Given the description of an element on the screen output the (x, y) to click on. 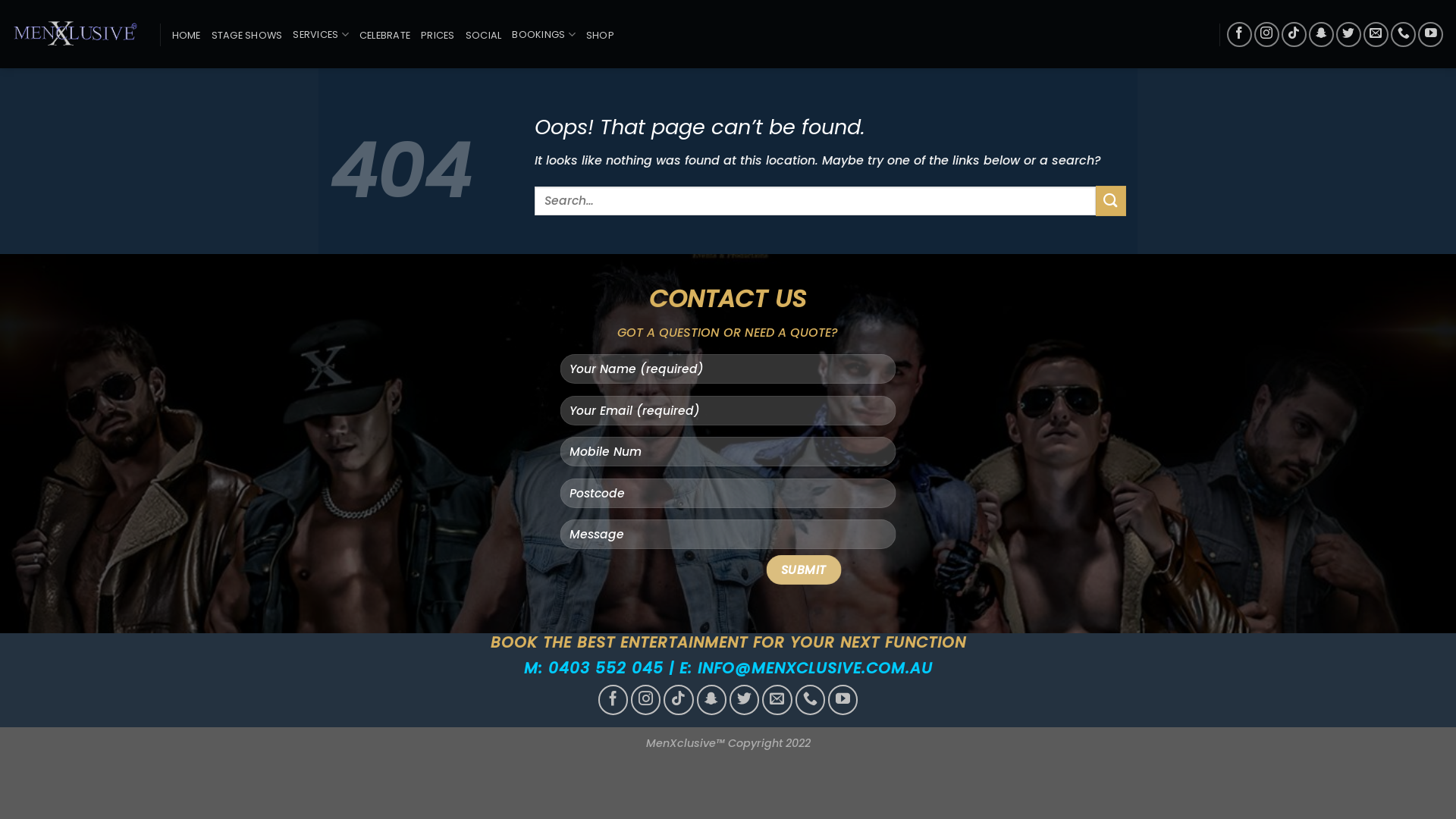
Follow on Instagram Element type: hover (645, 699)
STAGE SHOWS Element type: text (246, 34)
Follow on Facebook Element type: hover (1239, 34)
Follow on TikTok Element type: hover (1293, 34)
Follow on Facebook Element type: hover (613, 699)
SOCIAL Element type: text (483, 34)
Call us Element type: hover (1402, 34)
CELEBRATE Element type: text (384, 34)
Follow on YouTube Element type: hover (1430, 34)
BOOKINGS Element type: text (543, 34)
Follow on YouTube Element type: hover (843, 699)
Follow on SnapChat Element type: hover (1320, 34)
HOME Element type: text (185, 34)
Call us Element type: hover (810, 699)
Follow on Instagram Element type: hover (1266, 34)
Submit Element type: text (802, 569)
Follow on Twitter Element type: hover (1348, 34)
PRICES Element type: text (437, 34)
Follow on SnapChat Element type: hover (711, 699)
SHOP Element type: text (600, 34)
Send us an email Element type: hover (777, 699)
Follow on Twitter Element type: hover (744, 699)
Follow on TikTok Element type: hover (678, 699)
Send us an email Element type: hover (1375, 34)
SERVICES Element type: text (320, 34)
